Given the description of an element on the screen output the (x, y) to click on. 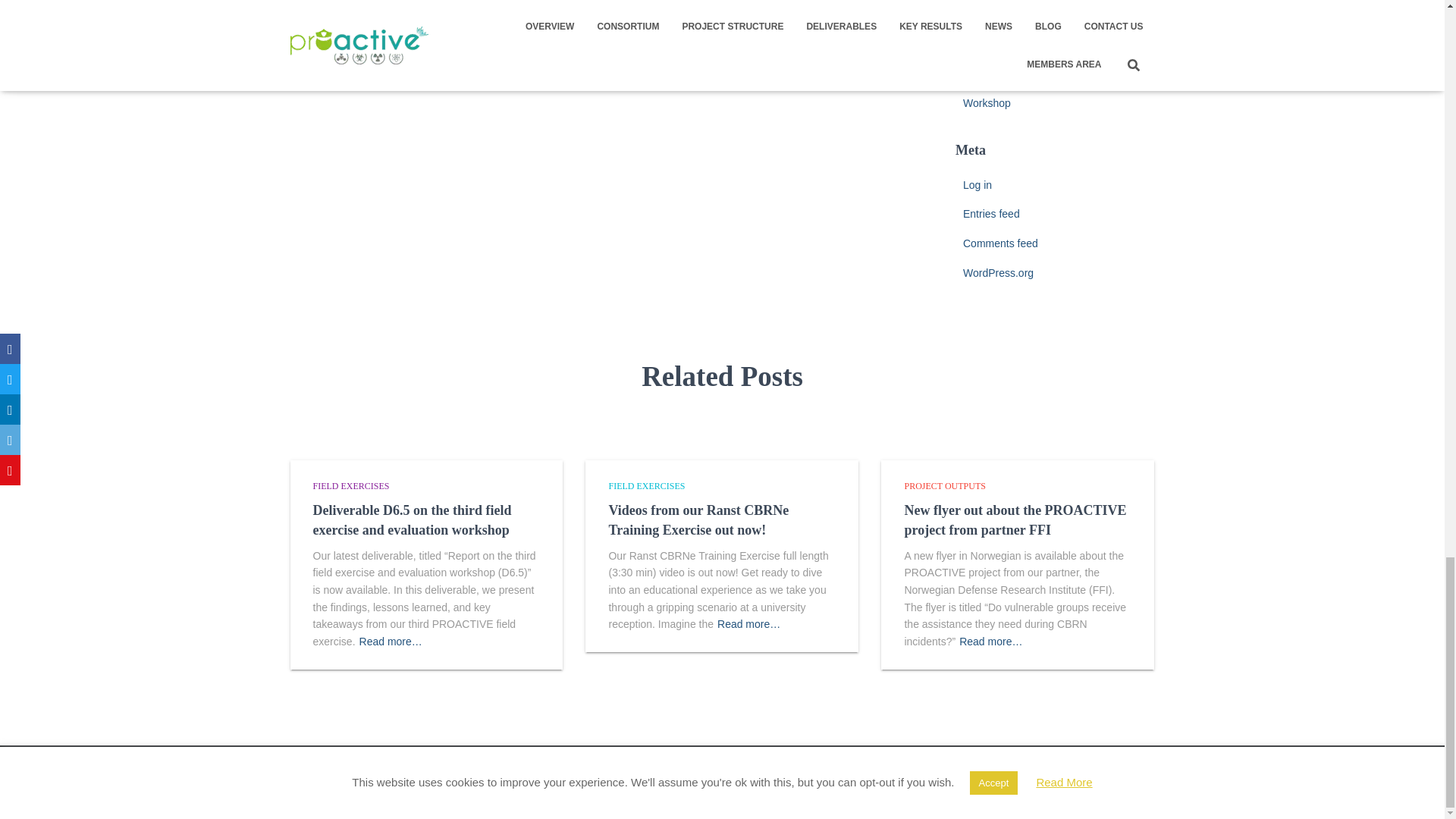
View all posts in Field Exercises (646, 485)
View all posts in Project Outputs (944, 485)
Videos from our Ranst CBRNe Training Exercise out now! (698, 519)
View all posts in Field Exercises (350, 485)
New flyer out about the PROACTIVE project from partner FFI (1014, 519)
